Given the description of an element on the screen output the (x, y) to click on. 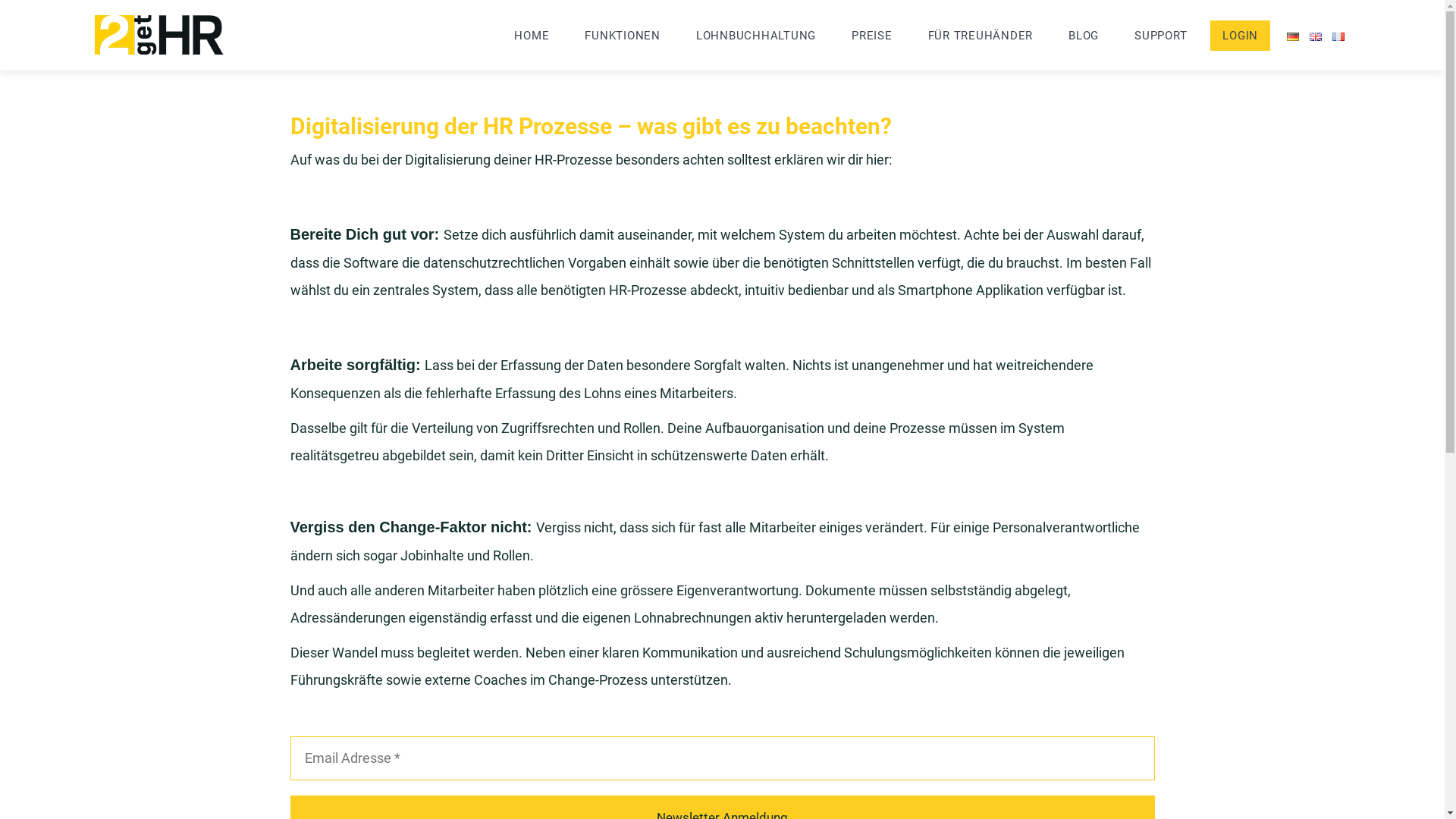
Email Adresse Element type: hover (721, 758)
SUPPORT Element type: text (1160, 35)
LOHNBUCHHALTUNG Element type: text (756, 35)
BLOG Element type: text (1083, 35)
FUNKTIONEN Element type: text (622, 35)
LOGIN Element type: text (1240, 35)
PREISE Element type: text (871, 35)
HOME Element type: text (531, 35)
